Given the description of an element on the screen output the (x, y) to click on. 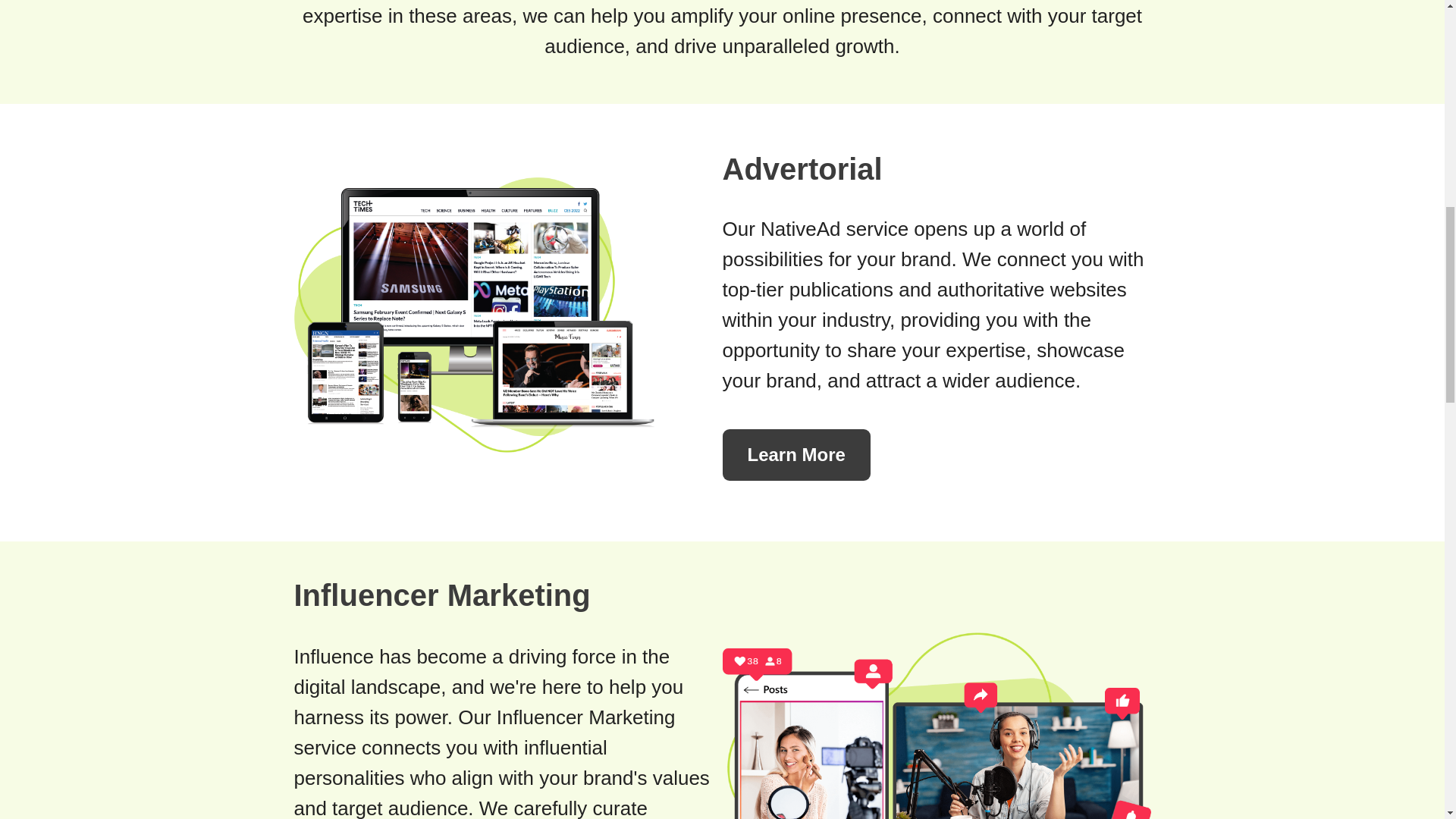
Learn More (795, 454)
